Given the description of an element on the screen output the (x, y) to click on. 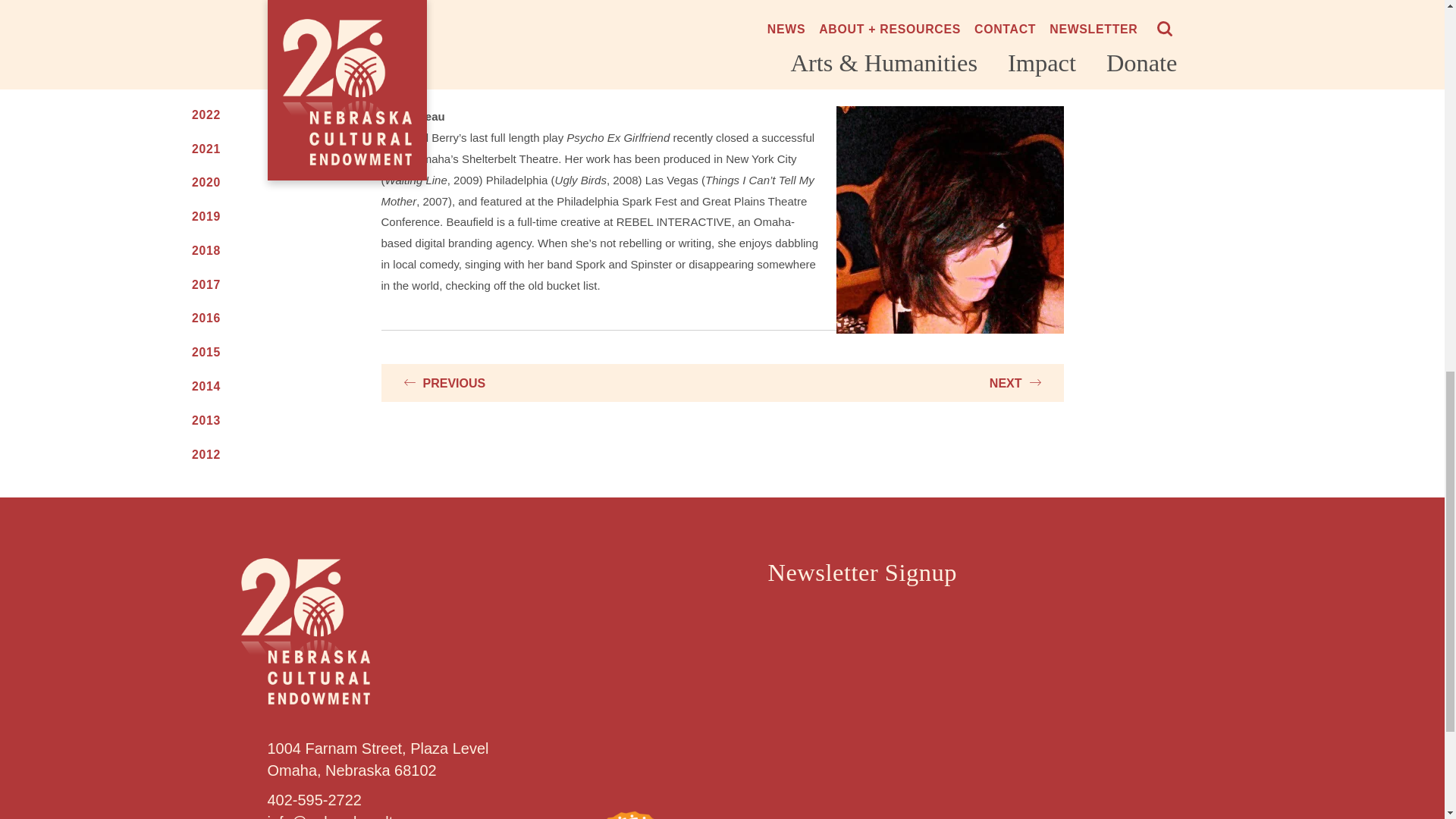
2018 (255, 250)
2022 (255, 114)
2019 (255, 216)
2021 (255, 149)
2020 (255, 182)
2016 (255, 319)
2017 (255, 284)
2015 (255, 352)
2023 (255, 80)
VISUAL ARTS (255, 5)
